Given the description of an element on the screen output the (x, y) to click on. 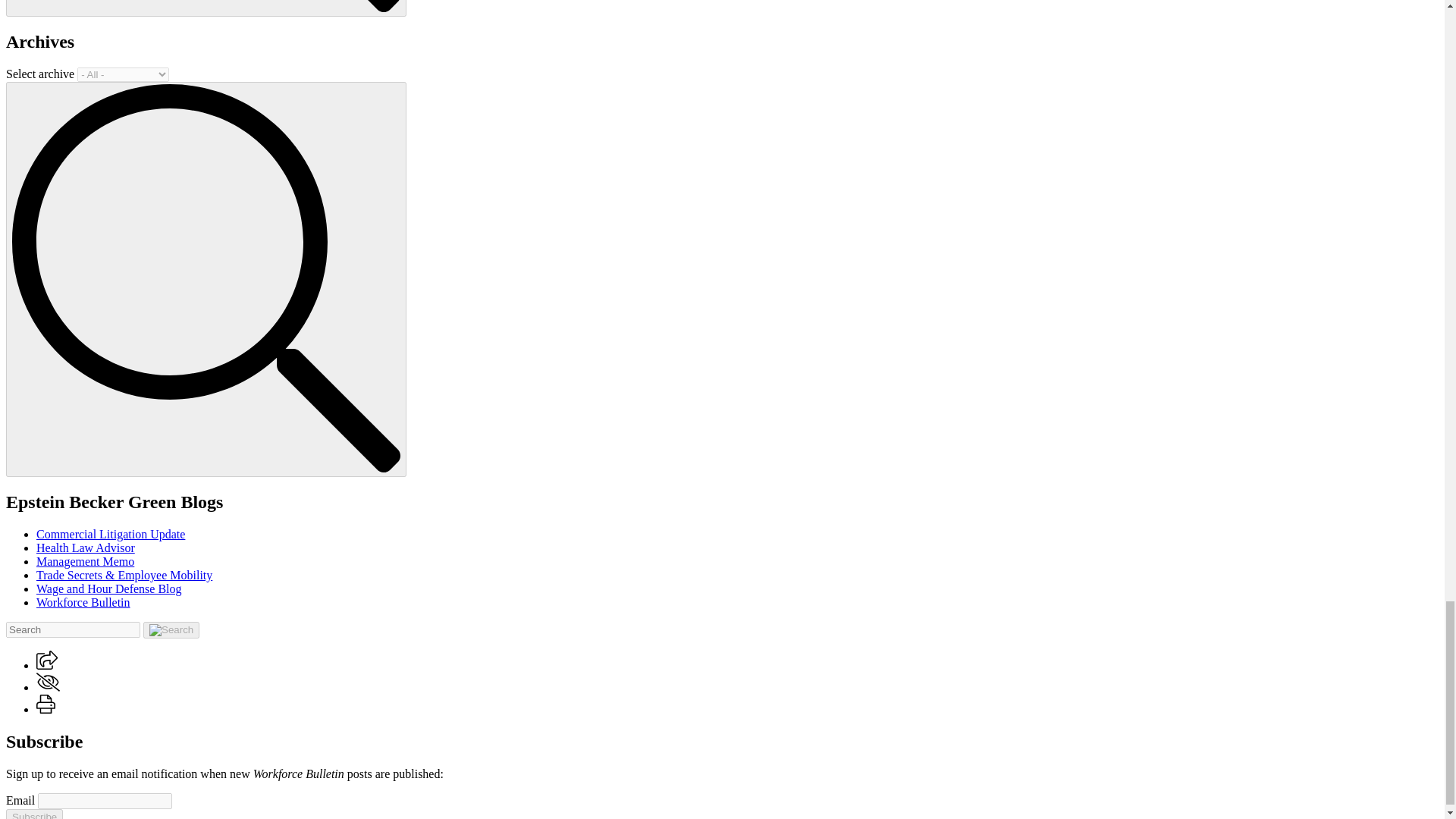
Go to the privacy settings (47, 681)
Print (45, 703)
Search (205, 6)
Share (47, 665)
Share (47, 659)
